Given the description of an element on the screen output the (x, y) to click on. 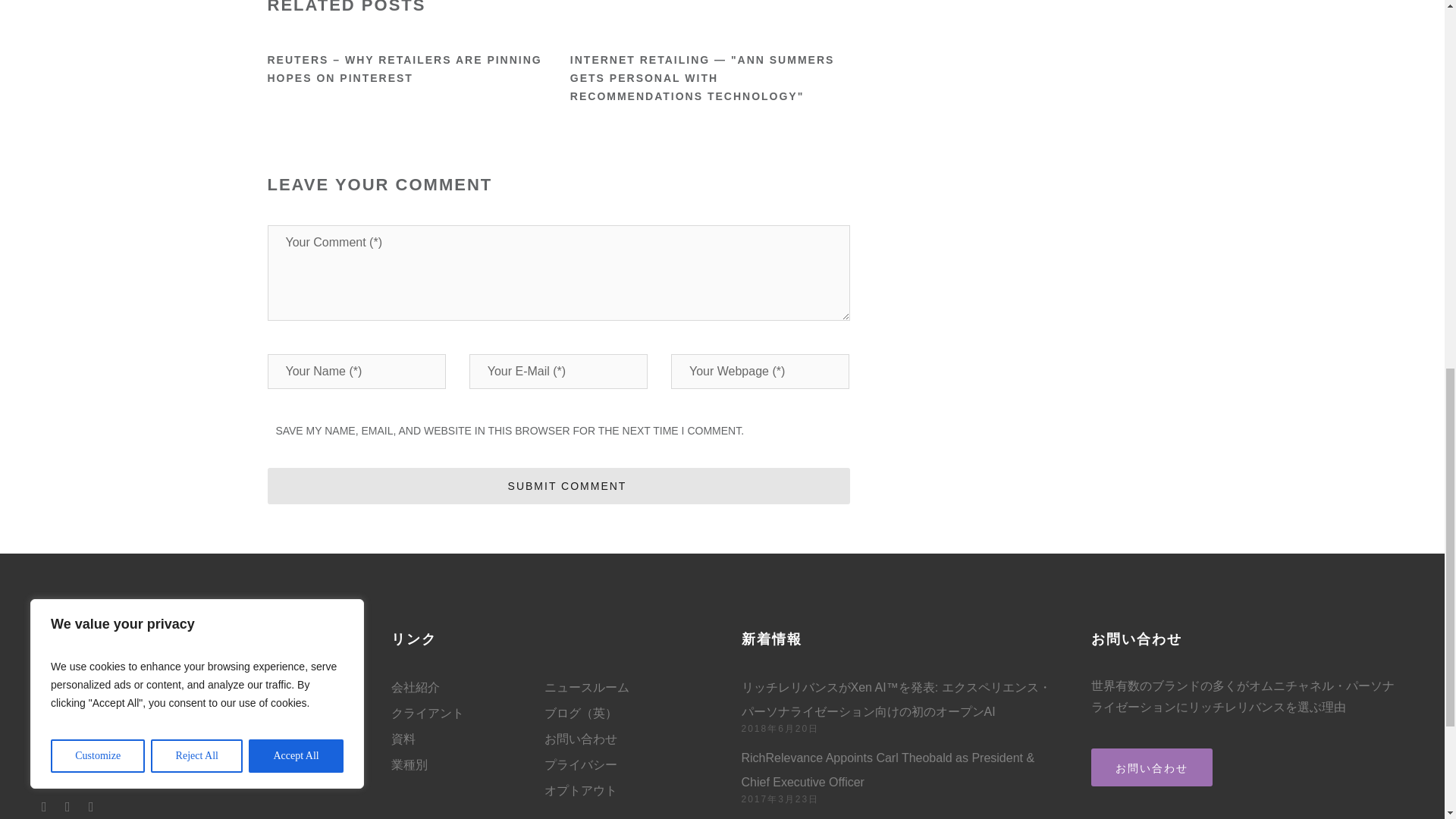
Submit Comment (557, 485)
